Given the description of an element on the screen output the (x, y) to click on. 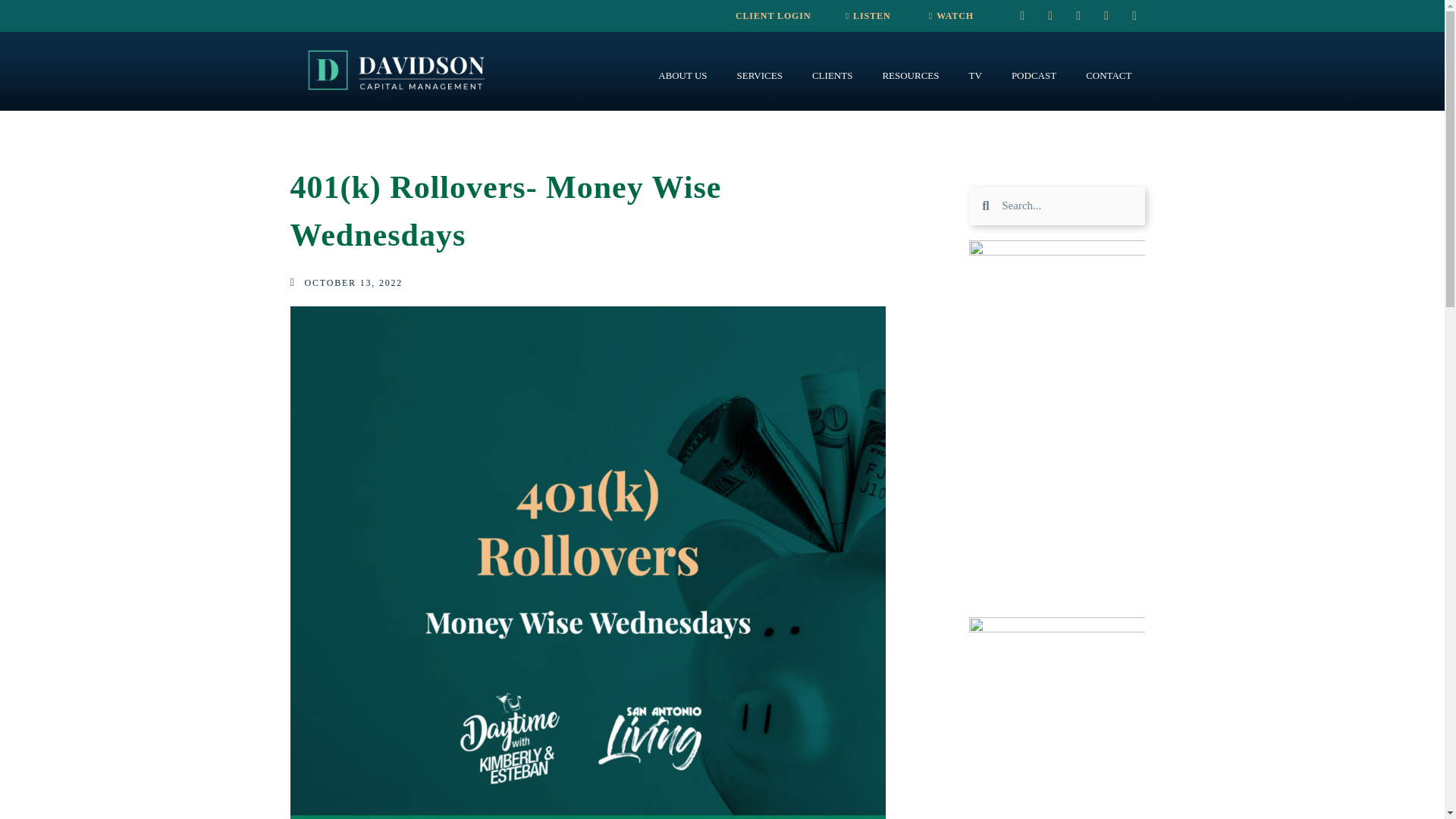
Icon-linkedin (1134, 15)
CLIENT LOGIN (772, 16)
SERVICES (759, 75)
CONTACT (1108, 75)
PODCAST (1033, 75)
RESOURCES (909, 75)
Facebook-f (1077, 15)
ABOUT US (682, 75)
WATCH (951, 16)
TV (975, 75)
